Given the description of an element on the screen output the (x, y) to click on. 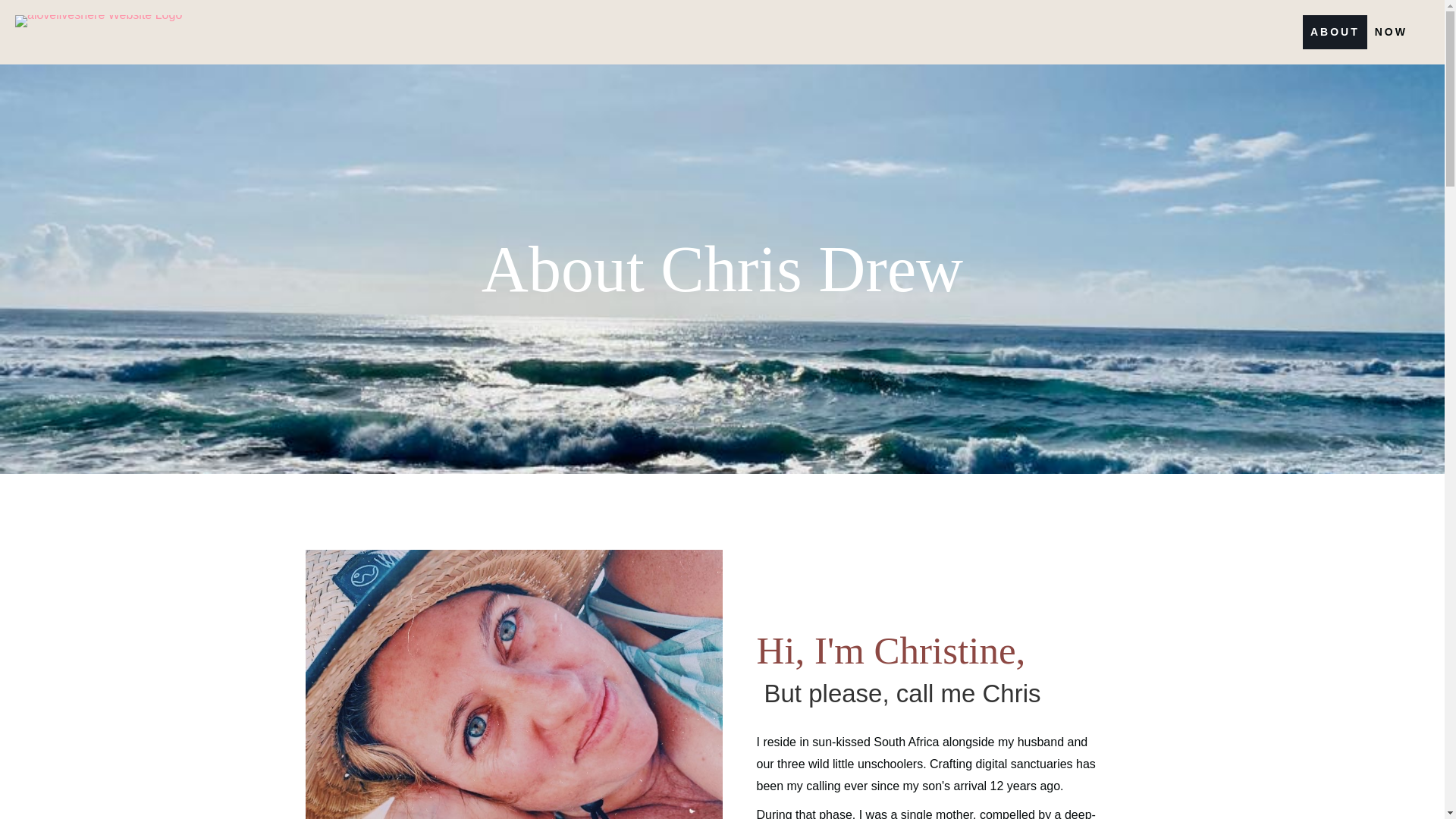
NOW (1391, 32)
ABOUT (1335, 32)
aloveliveshere Website Logo (98, 21)
